Given the description of an element on the screen output the (x, y) to click on. 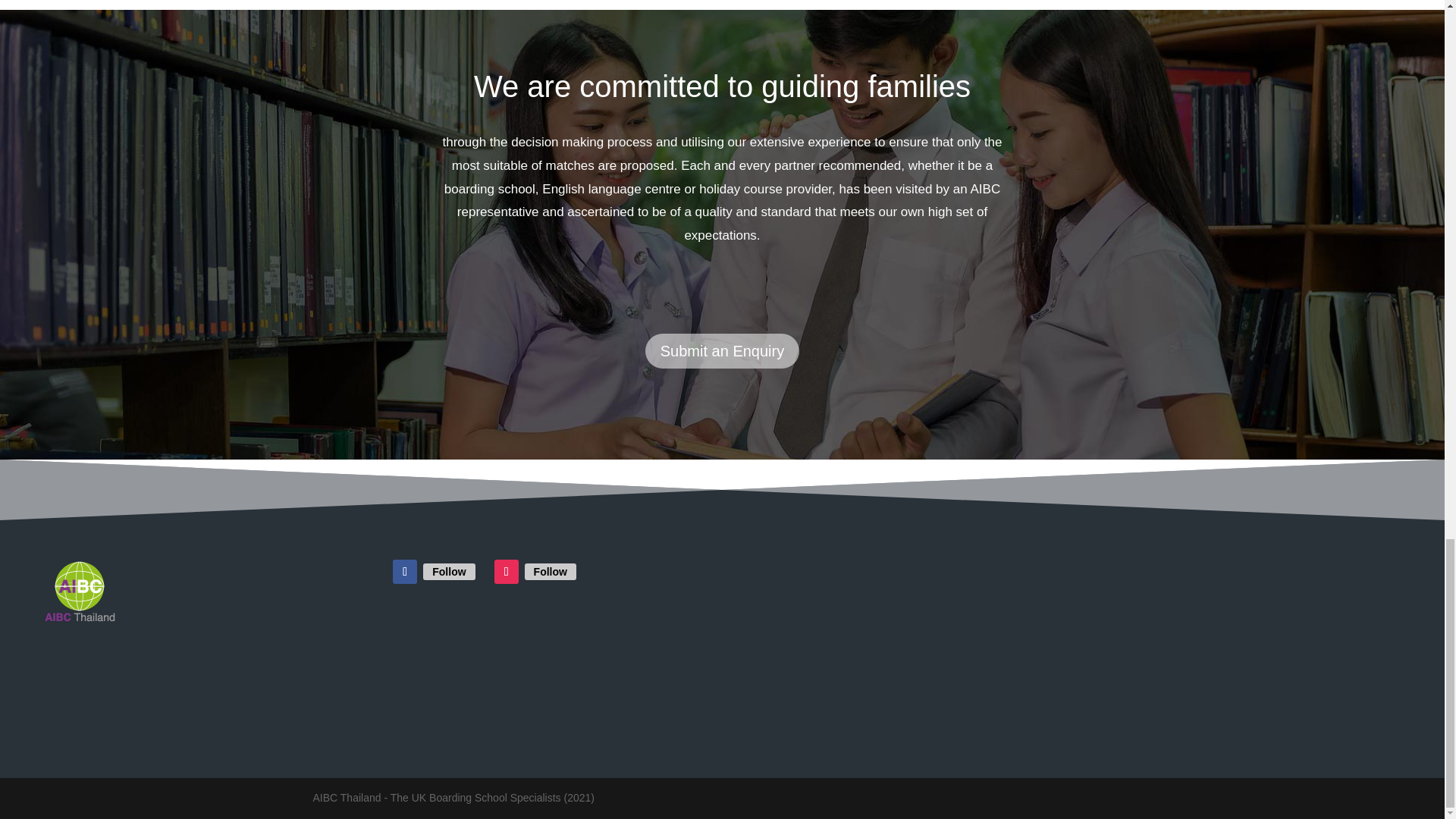
Submit an Enquiry (722, 350)
Follow on Facebook (404, 571)
Follow on Instagram (506, 571)
Follow (448, 571)
Facebook (448, 571)
Instagram (550, 571)
Follow (550, 571)
